Given the description of an element on the screen output the (x, y) to click on. 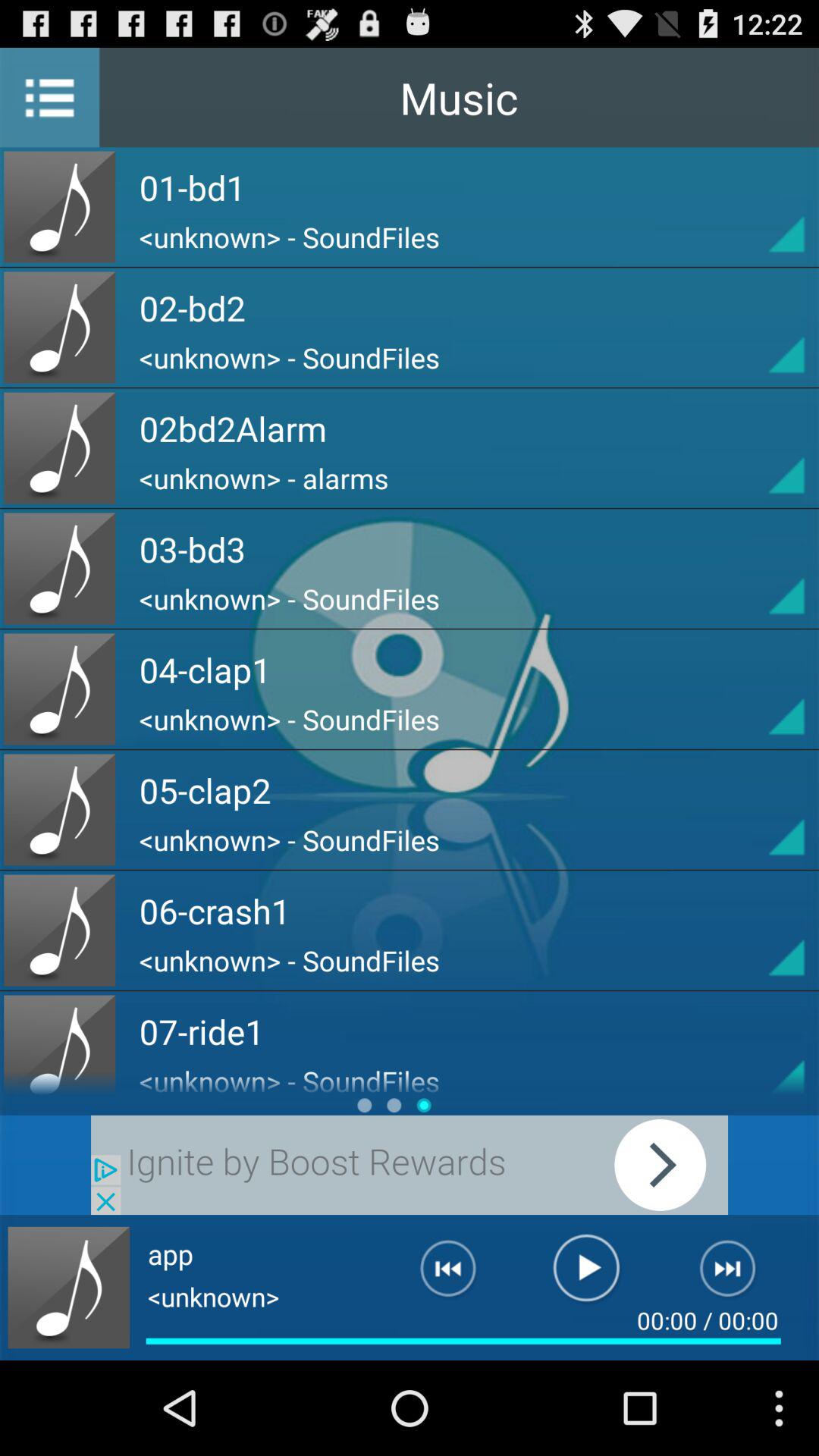
go to music (68, 1287)
